Given the description of an element on the screen output the (x, y) to click on. 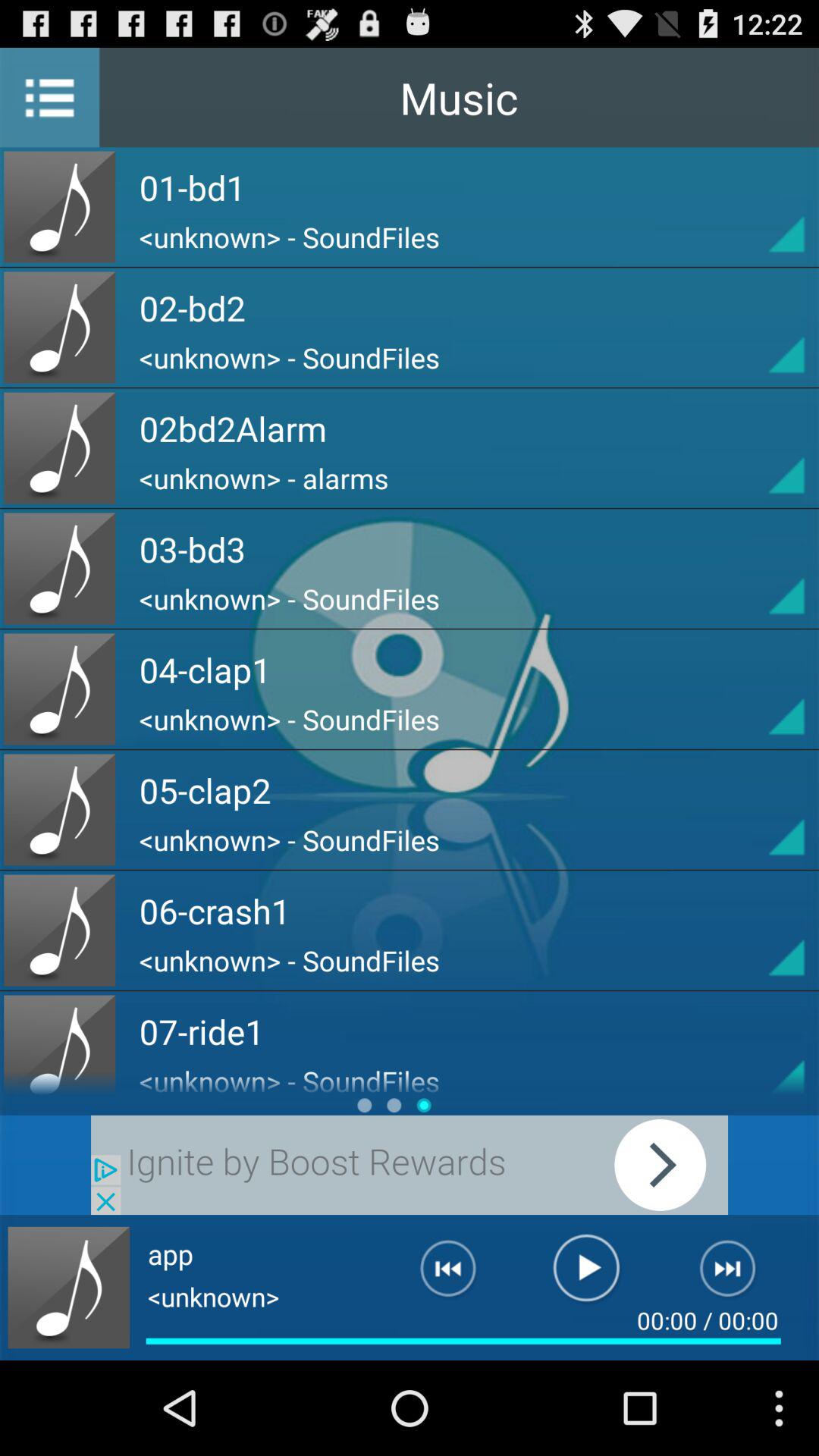
go to music (68, 1287)
